Given the description of an element on the screen output the (x, y) to click on. 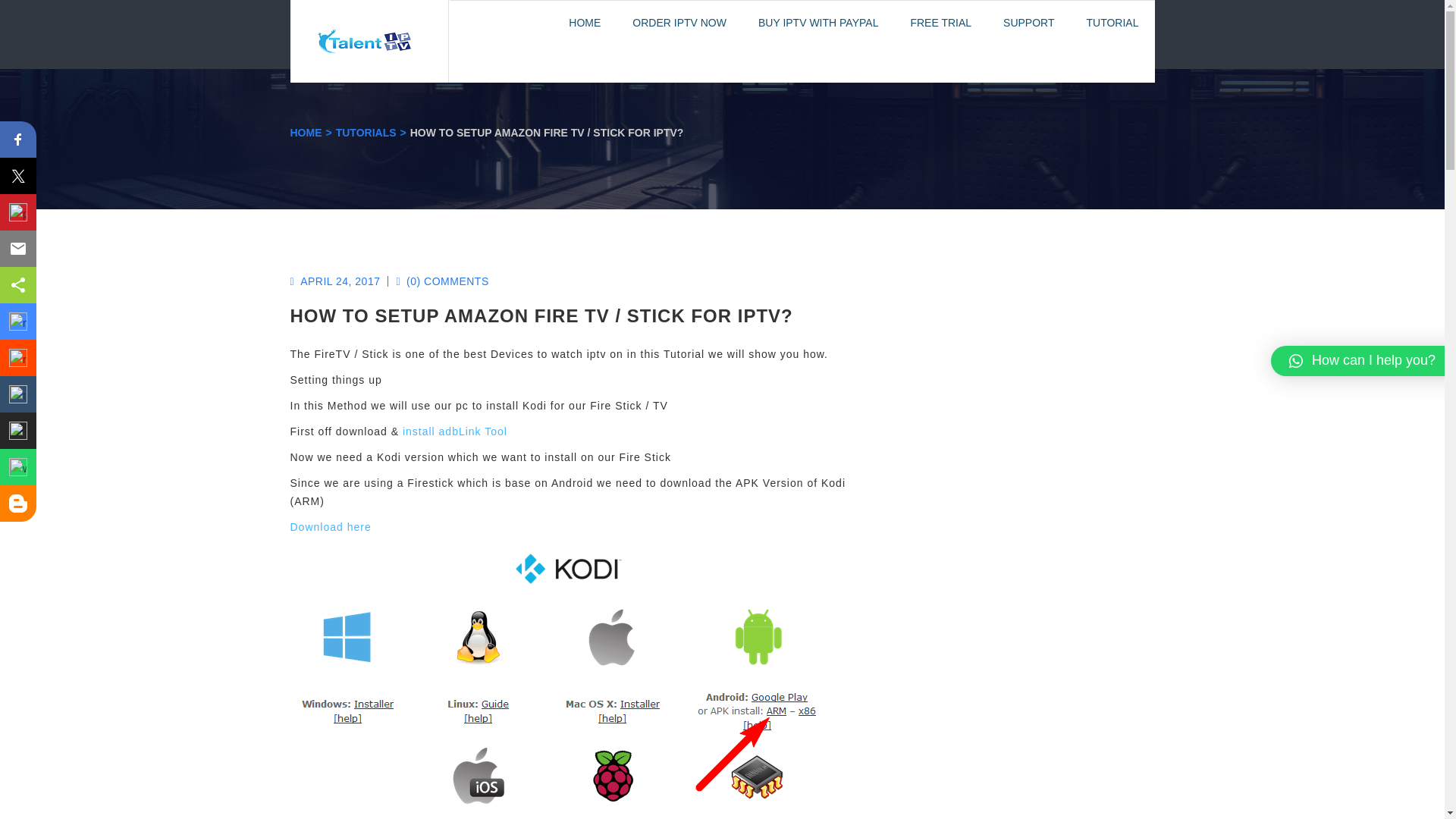
TUTORIALS (366, 132)
install adbLink Tool (454, 431)
SUPPORT (1028, 22)
BUY IPTV WITH PAYPAL (817, 22)
FREE TRIAL (940, 22)
HOME (305, 132)
ORDER IPTV NOW (678, 22)
Download here (330, 526)
APRIL 24, 2017 (334, 281)
HOME (584, 22)
TUTORIAL (1112, 22)
